Given the description of an element on the screen output the (x, y) to click on. 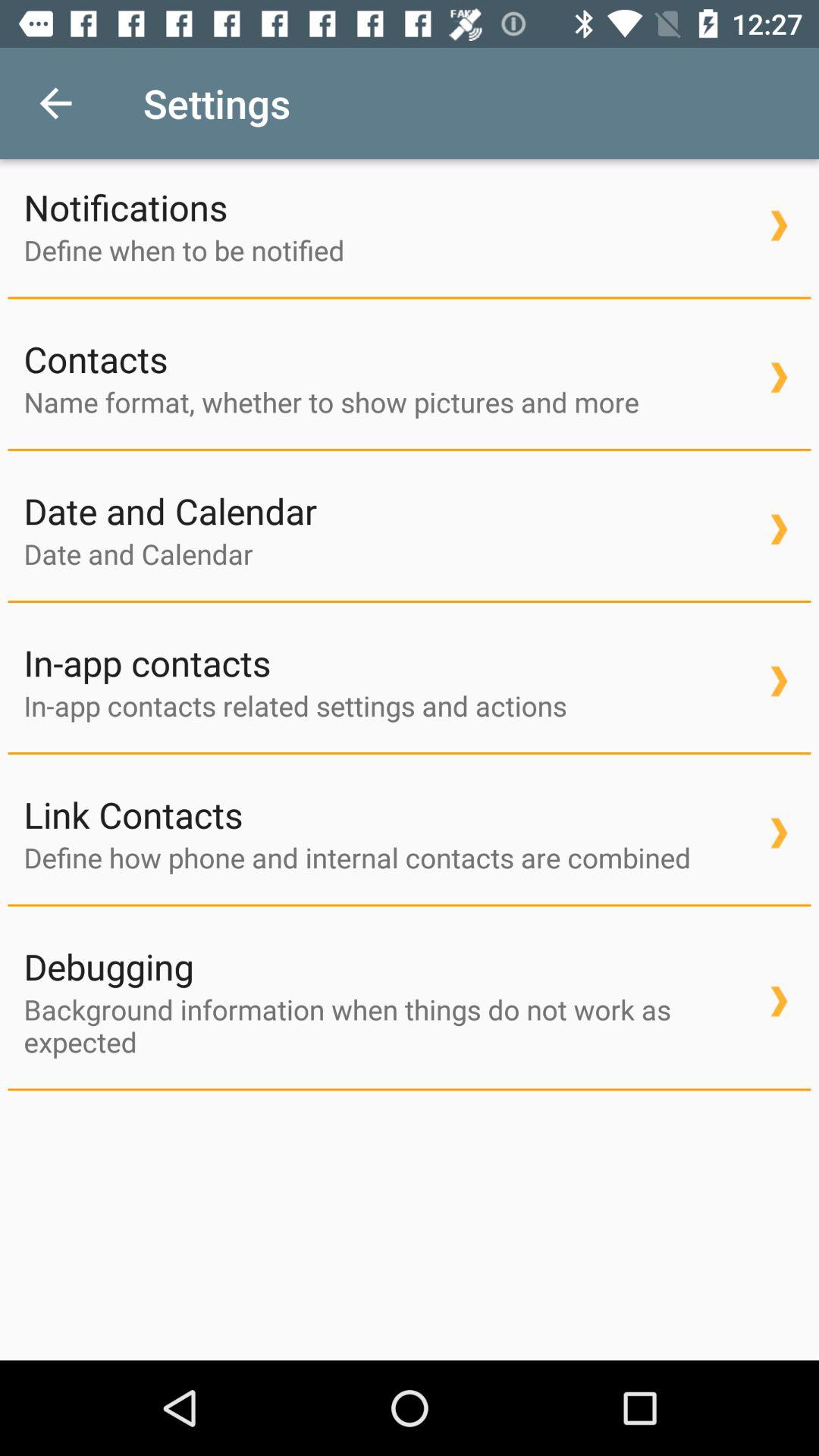
click on text below notifications (409, 377)
